Given the description of an element on the screen output the (x, y) to click on. 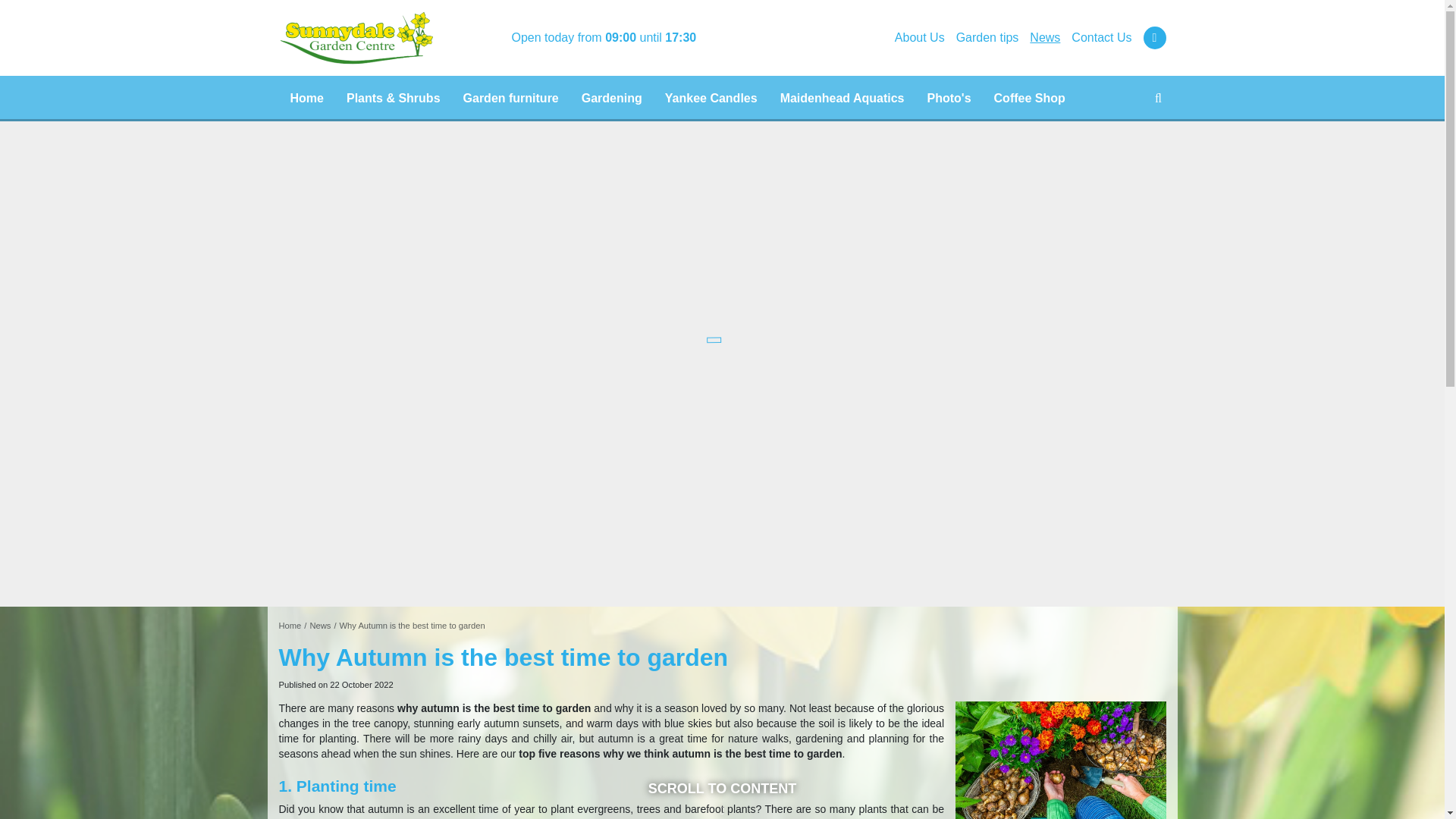
Why Autumn is the best time to garden (411, 625)
FB (1154, 37)
Home (306, 98)
News (1044, 37)
About Us (919, 37)
Garden tips (987, 37)
News (319, 625)
Why Autumn is the best time to garden (411, 625)
Home (290, 625)
Sunnydale Garden Centre - Torfaen (355, 37)
